Given the description of an element on the screen output the (x, y) to click on. 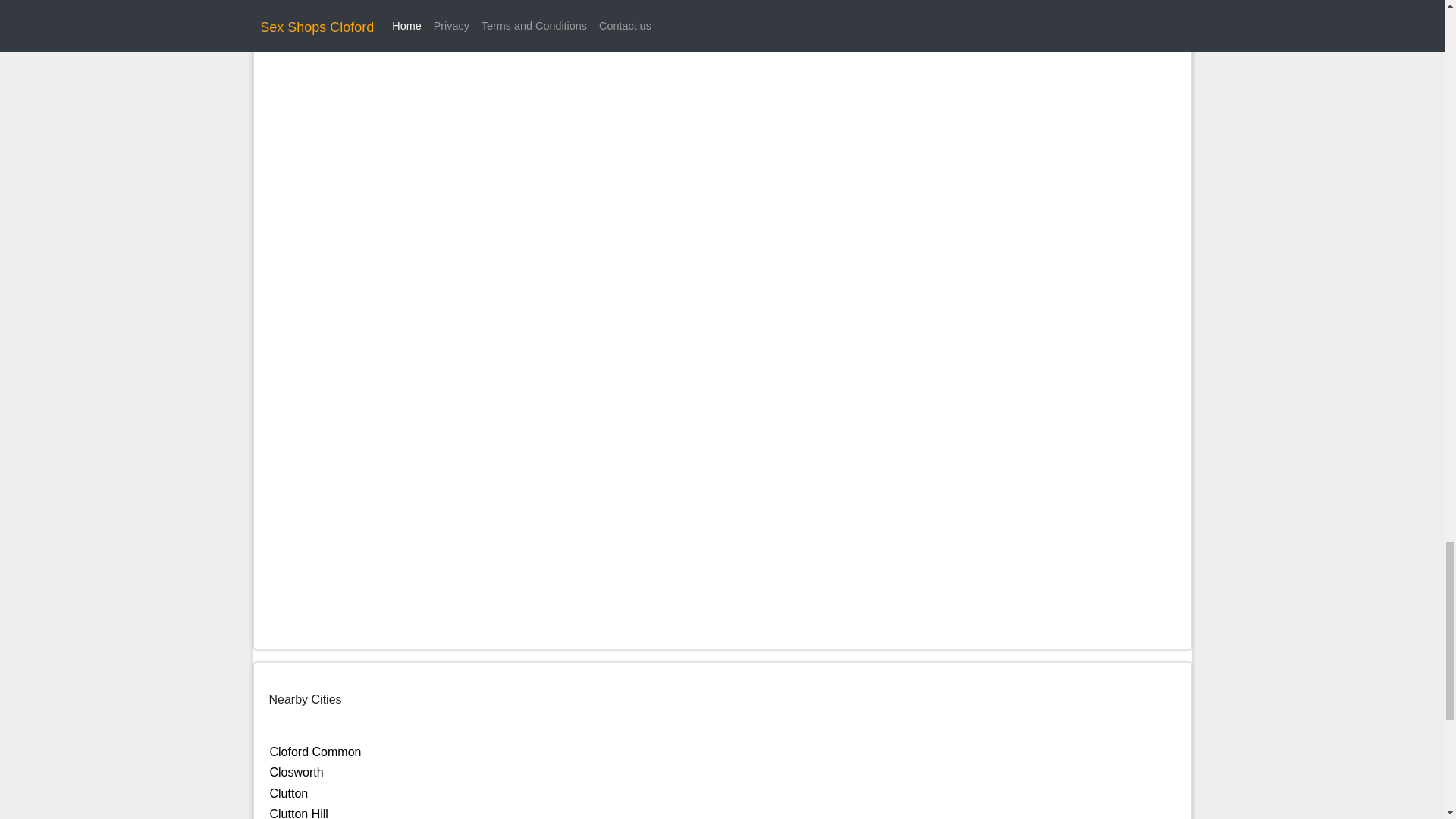
Clutton (288, 793)
Clutton Hill (299, 813)
Closworth (296, 771)
Cloford Common (315, 751)
